Given the description of an element on the screen output the (x, y) to click on. 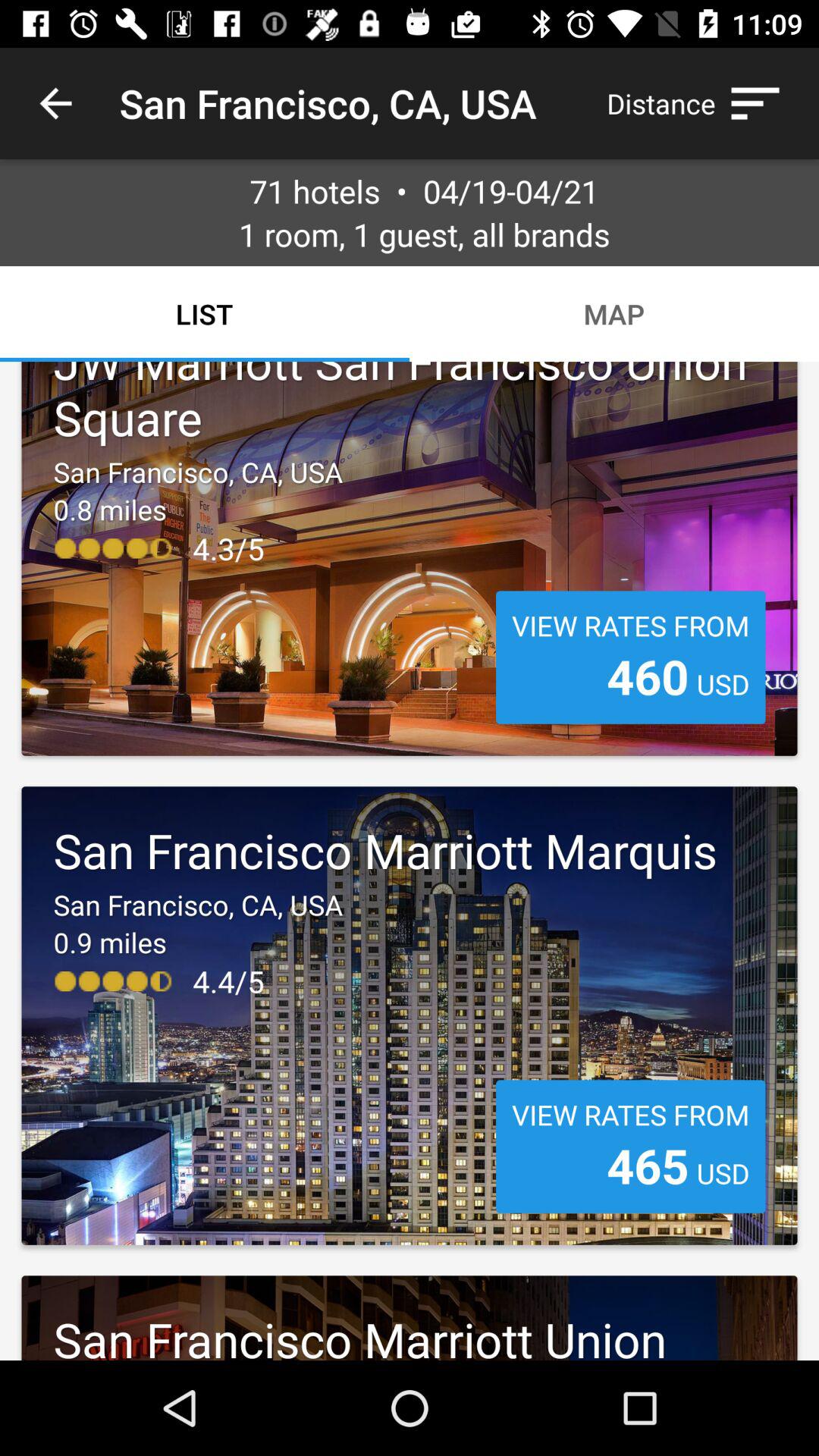
turn off item below view rates from item (647, 676)
